Given the description of an element on the screen output the (x, y) to click on. 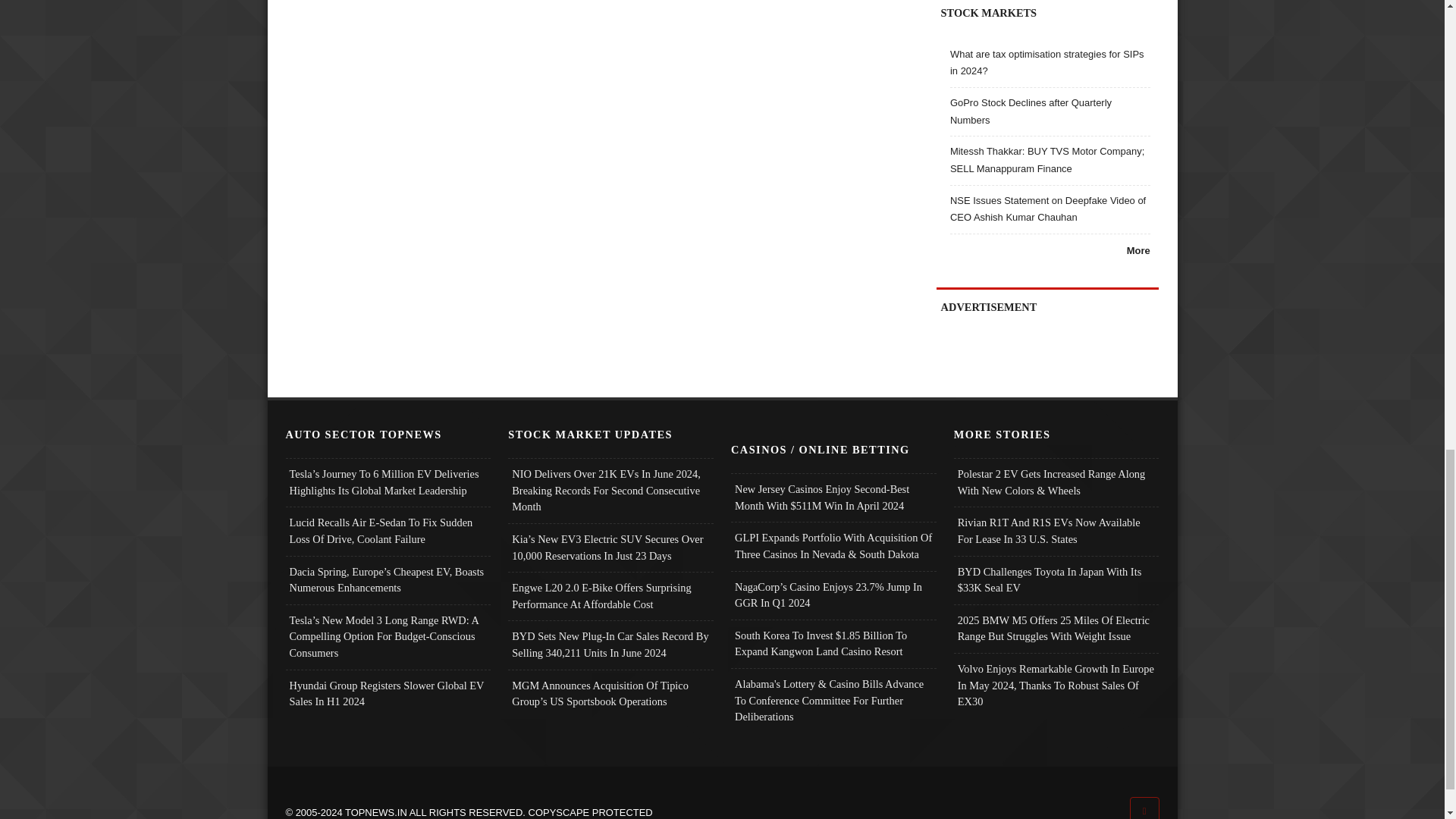
What are tax optimisation strategies for SIPs in 2024? (1047, 62)
